Given the description of an element on the screen output the (x, y) to click on. 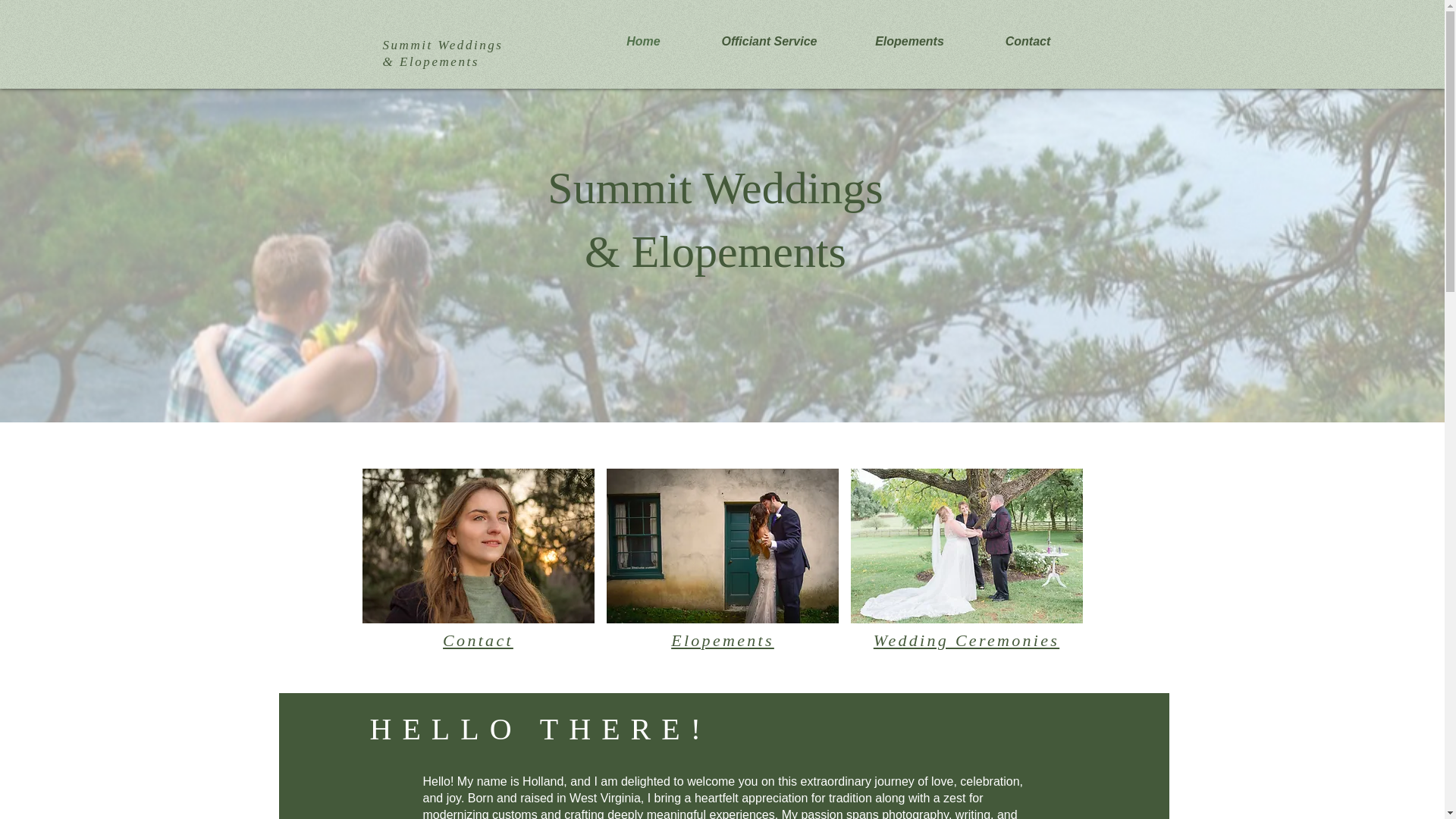
Officiant Service (769, 41)
Wedding Ceremonies (966, 640)
Elopements (722, 640)
Home (643, 41)
Contact (477, 640)
Elopements (909, 41)
Contact (1028, 41)
